Given the description of an element on the screen output the (x, y) to click on. 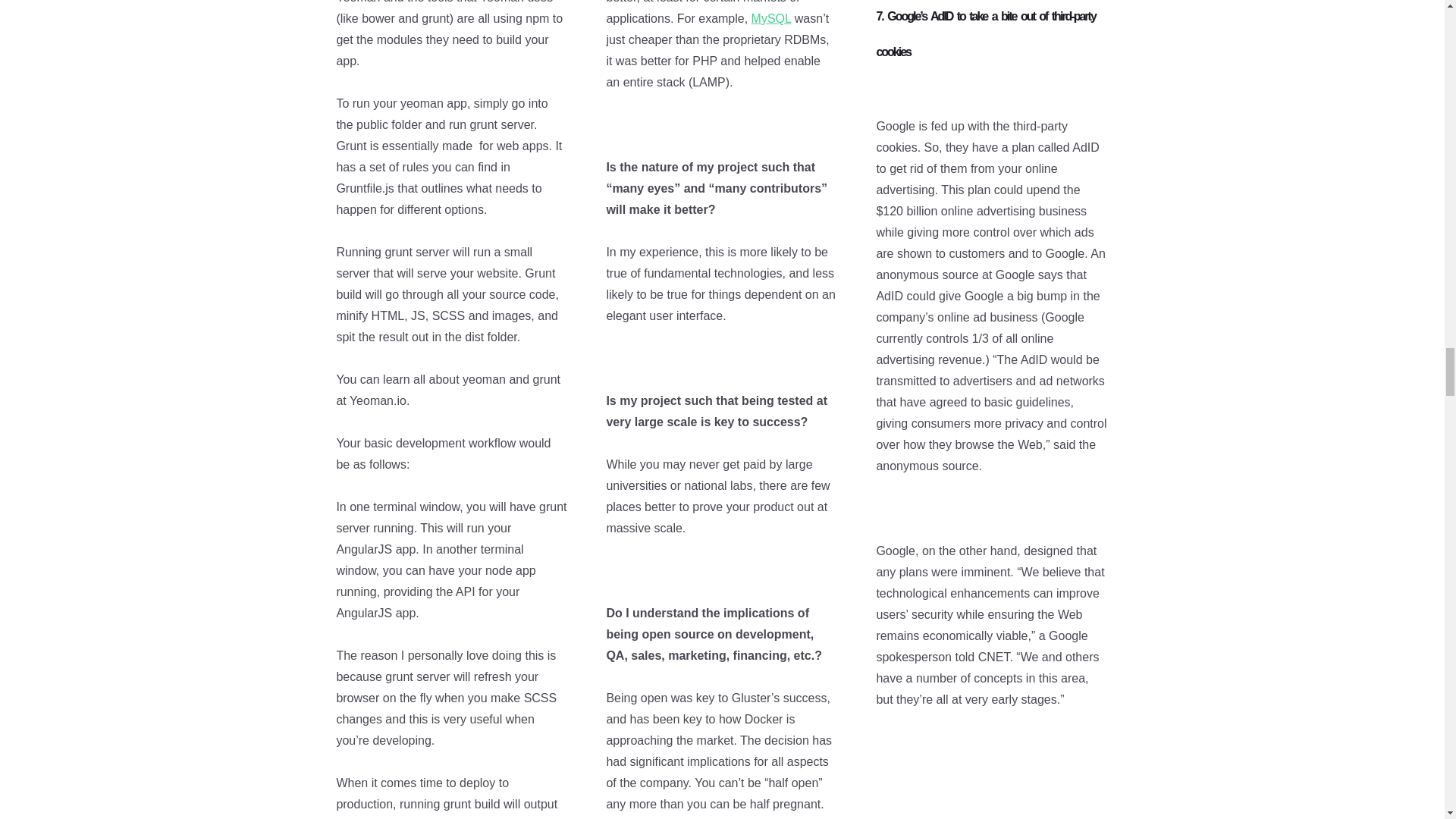
MySQL (771, 18)
